Given the description of an element on the screen output the (x, y) to click on. 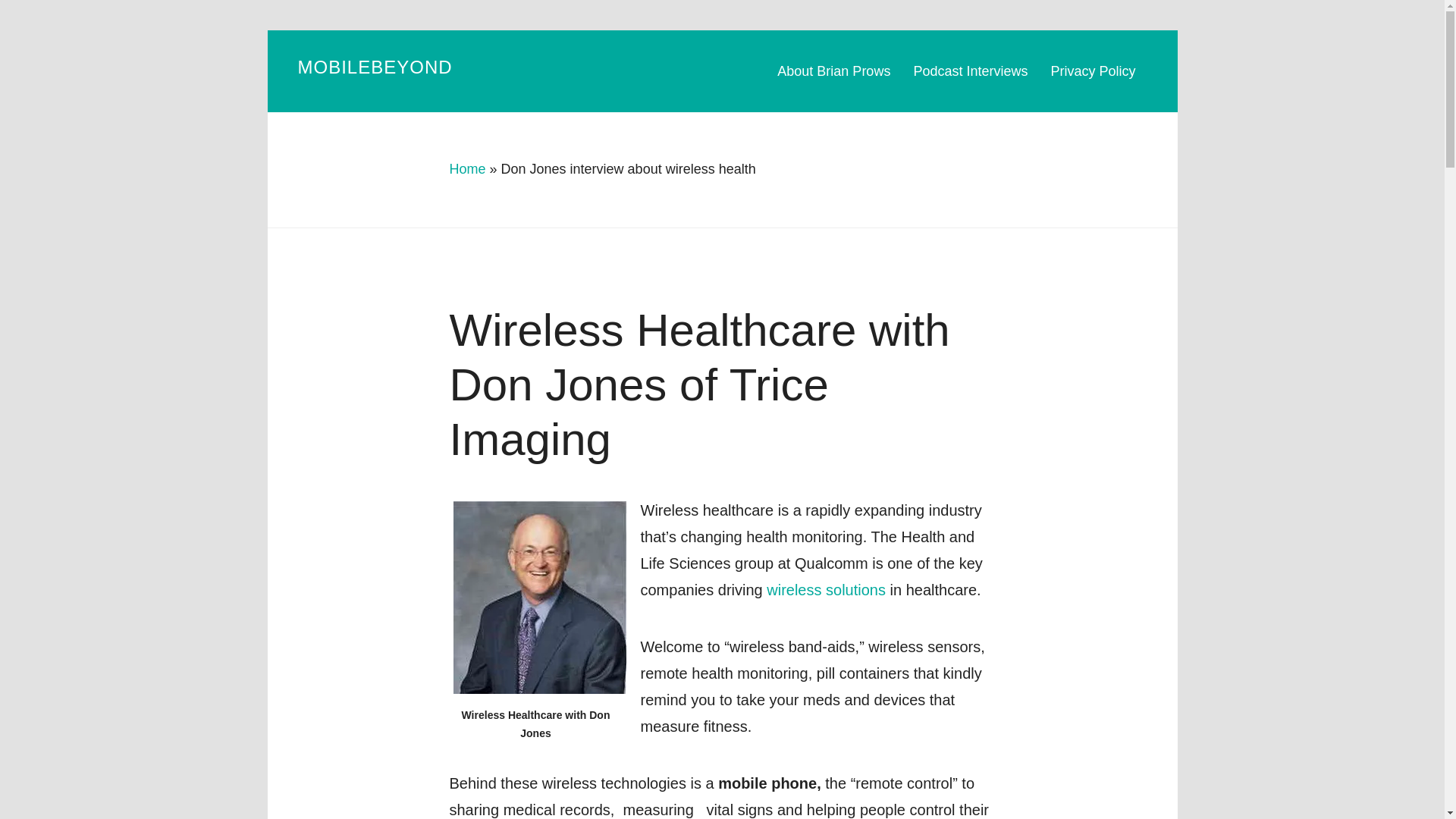
wireless solutions (826, 588)
Privacy Policy (1093, 71)
Home (466, 168)
About Brian Prows (839, 71)
Qualcomm Wireless Solutions (826, 588)
Podcast Interviews (970, 71)
MOBILEBEYOND (374, 66)
Don Jones wireless imaging (539, 596)
